Given the description of an element on the screen output the (x, y) to click on. 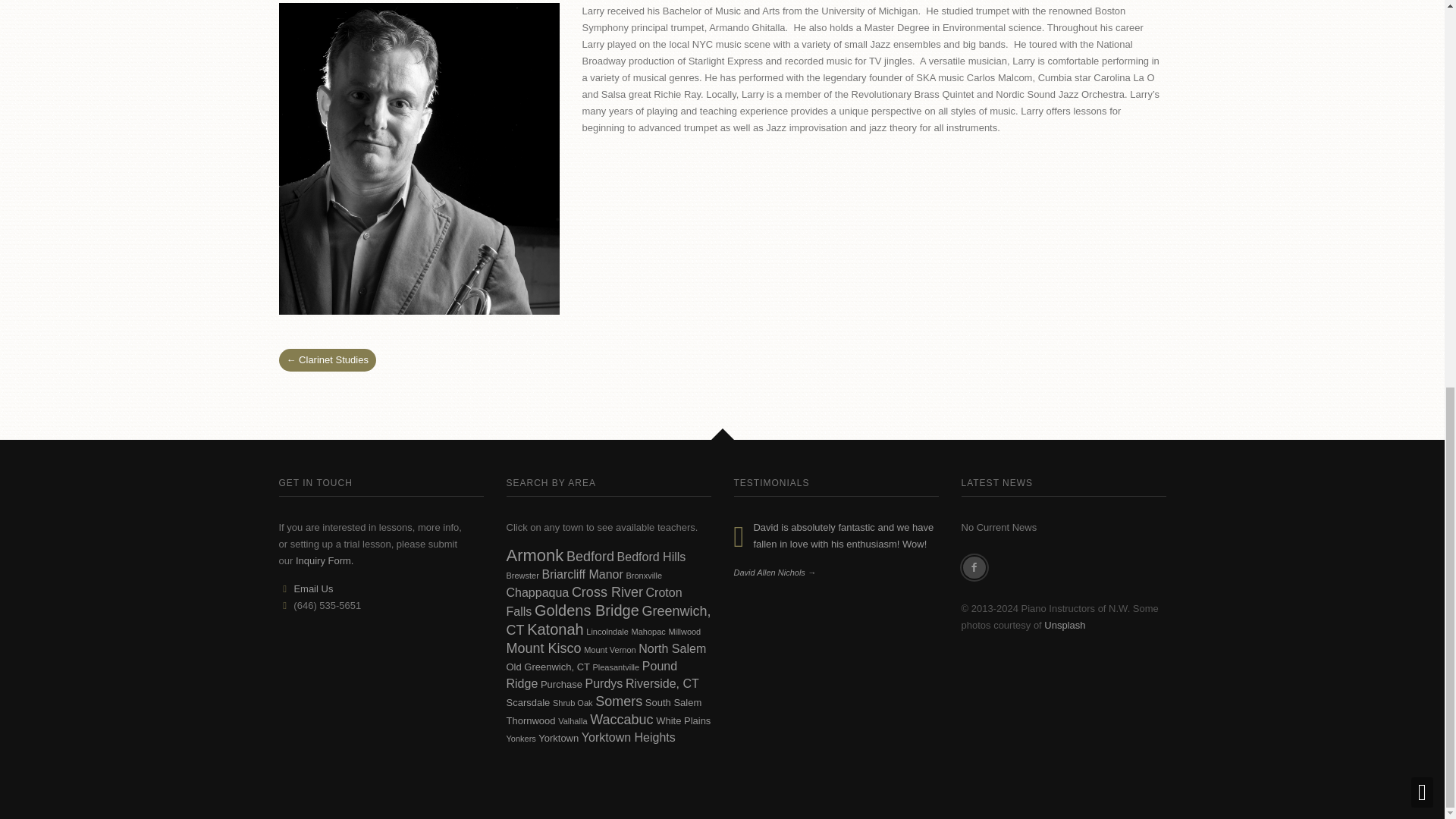
Inquiry Form. (324, 560)
Katonah (555, 629)
Chappaqua (537, 592)
Cross River (607, 591)
Croton Falls (594, 602)
Email Us (313, 588)
Armonk (535, 555)
Bedford (590, 556)
Briarcliff Manor (582, 574)
Millwood (684, 631)
Bronxville (644, 574)
Brewster (522, 574)
Lincolndale (607, 631)
Goldens Bridge (586, 610)
Bedford Hills (651, 556)
